Given the description of an element on the screen output the (x, y) to click on. 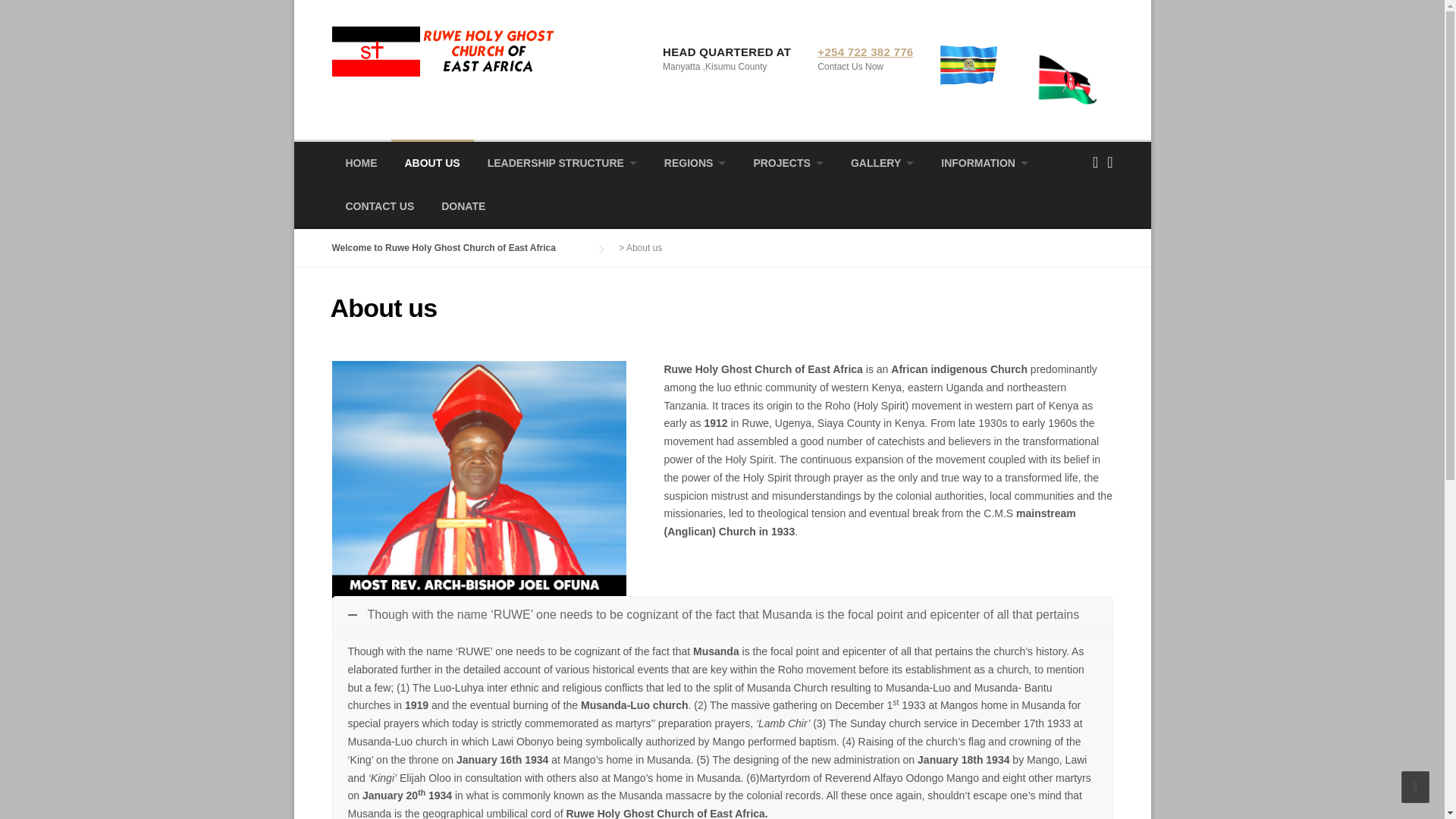
LEADERSHIP STRUCTURE (562, 162)
HOME (361, 162)
Welcome to Ruwe Holy Ghost Church of East Africa (443, 50)
PROJECTS (787, 162)
DONATE (463, 207)
INFORMATION (984, 162)
GALLERY (882, 162)
ABOUT US (432, 162)
Welcome to Ruwe Holy Ghost Church of East Africa (458, 247)
REGIONS (694, 162)
